Given the description of an element on the screen output the (x, y) to click on. 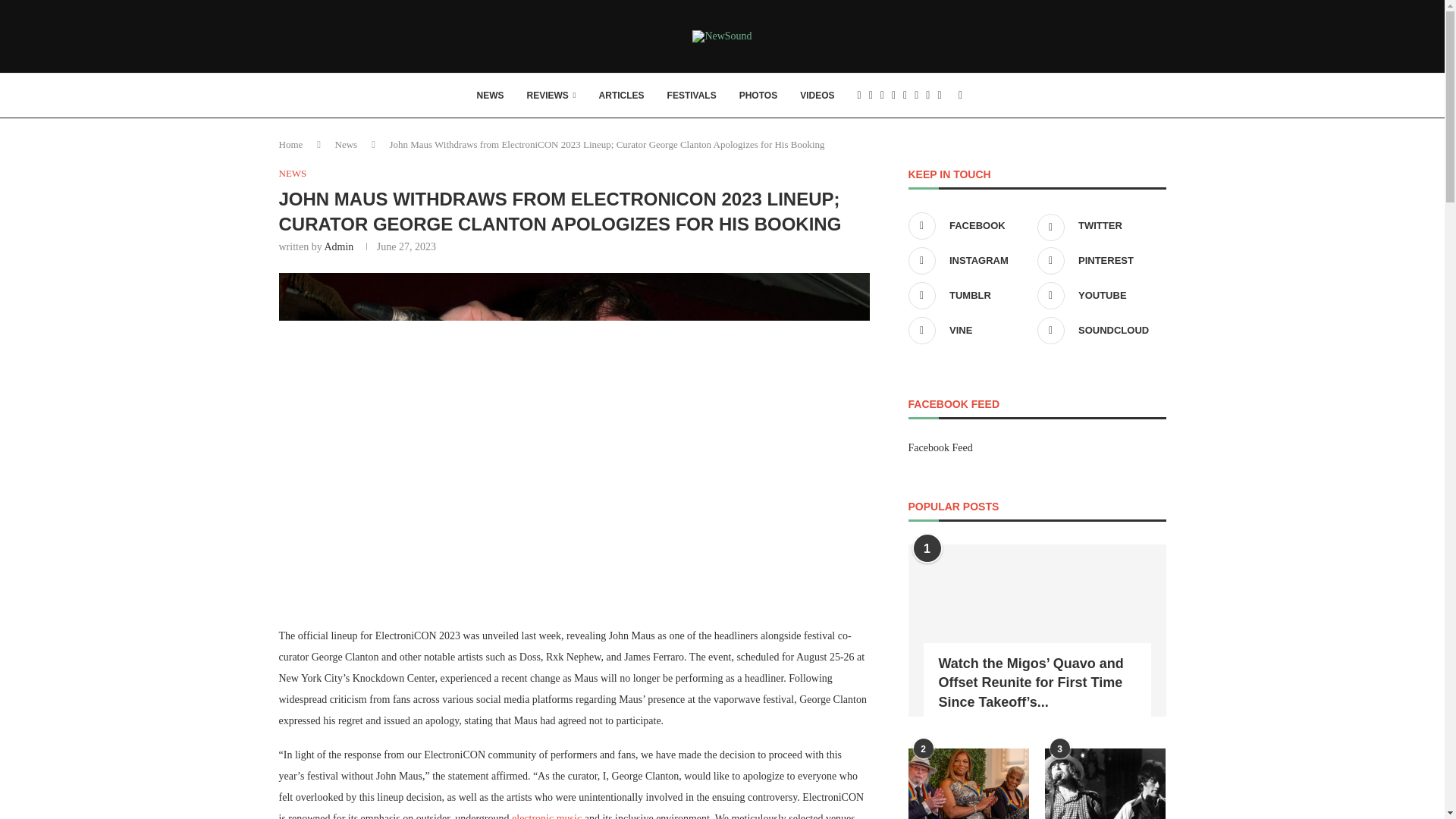
FESTIVALS (691, 95)
REVIEWS (550, 95)
Home (290, 143)
News (346, 143)
electronic music (546, 816)
Admin (338, 246)
Octo Octa Announces New Dreams of a Dancefloor EP (546, 816)
NEWS (293, 173)
ARTICLES (621, 95)
